Given the description of an element on the screen output the (x, y) to click on. 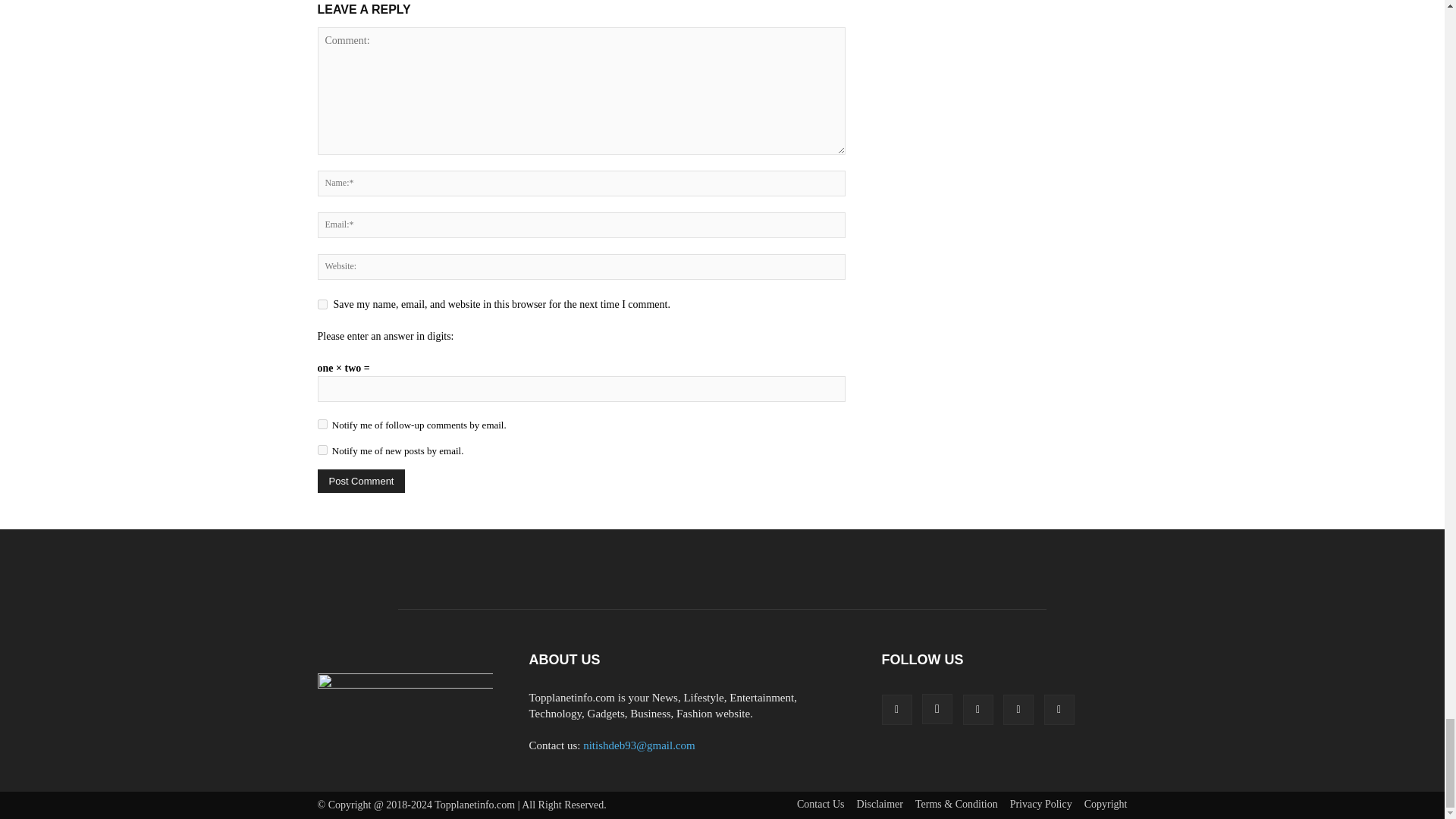
yes (321, 304)
subscribe (321, 424)
subscribe (321, 450)
Post Comment (360, 481)
